Given the description of an element on the screen output the (x, y) to click on. 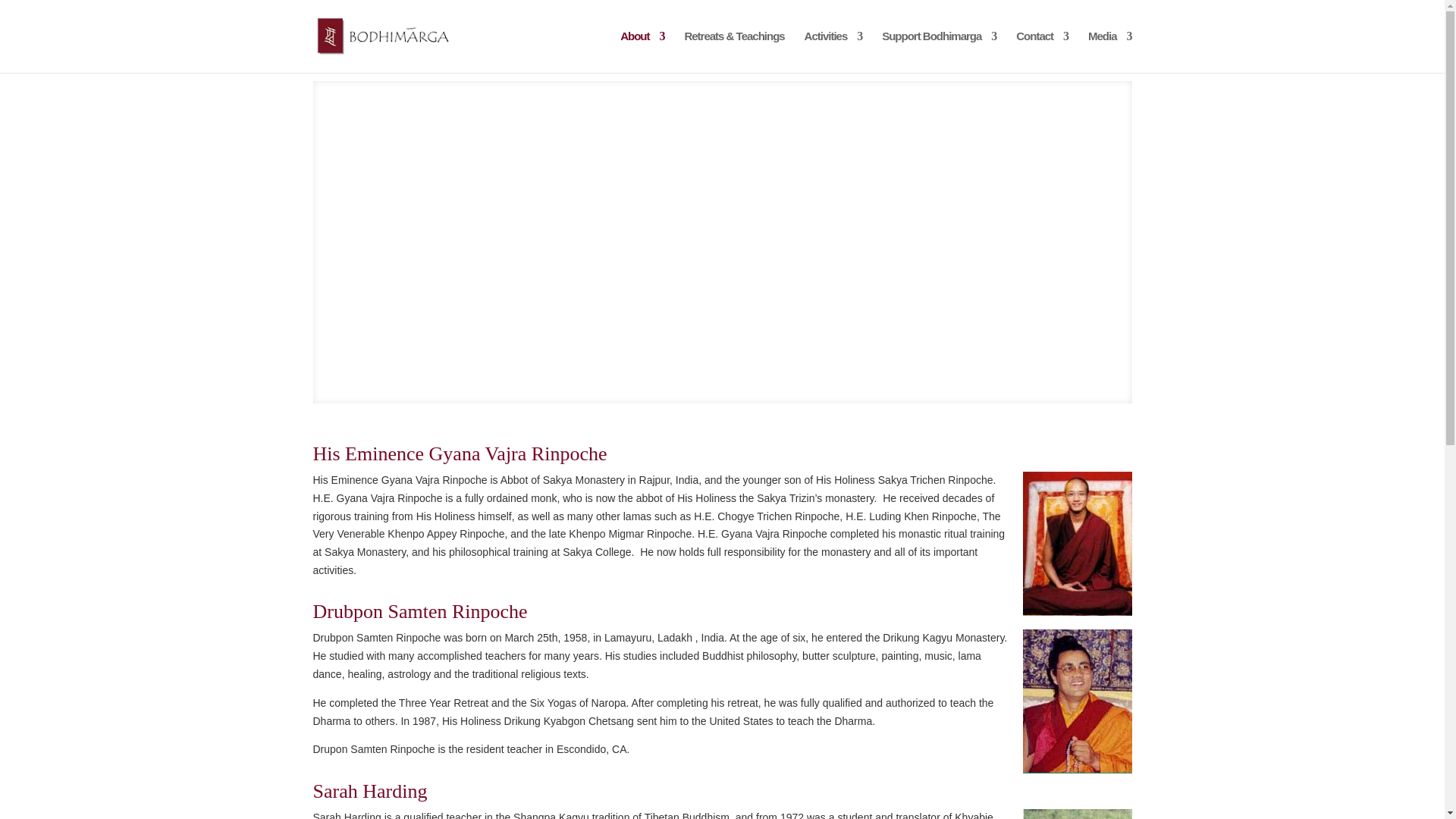
Support Bodhimarga (938, 51)
Media (1109, 51)
Activities (834, 51)
About (641, 51)
Contact (1042, 51)
